Given the description of an element on the screen output the (x, y) to click on. 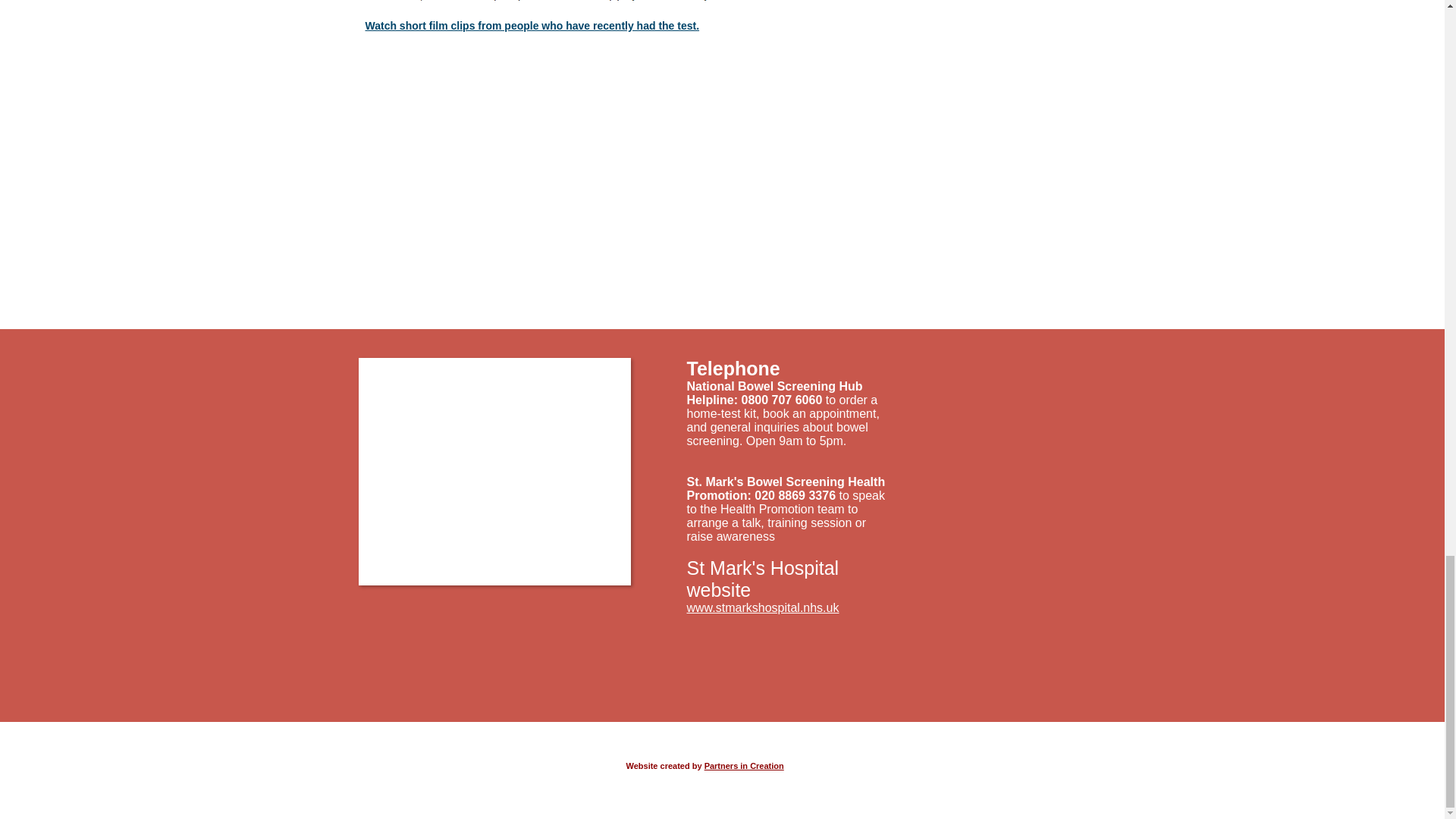
Partners in Creation (744, 765)
www.stmarkshospital.nhs.uk (763, 607)
Google Maps (494, 471)
Twitter Follow (967, 744)
